Given the description of an element on the screen output the (x, y) to click on. 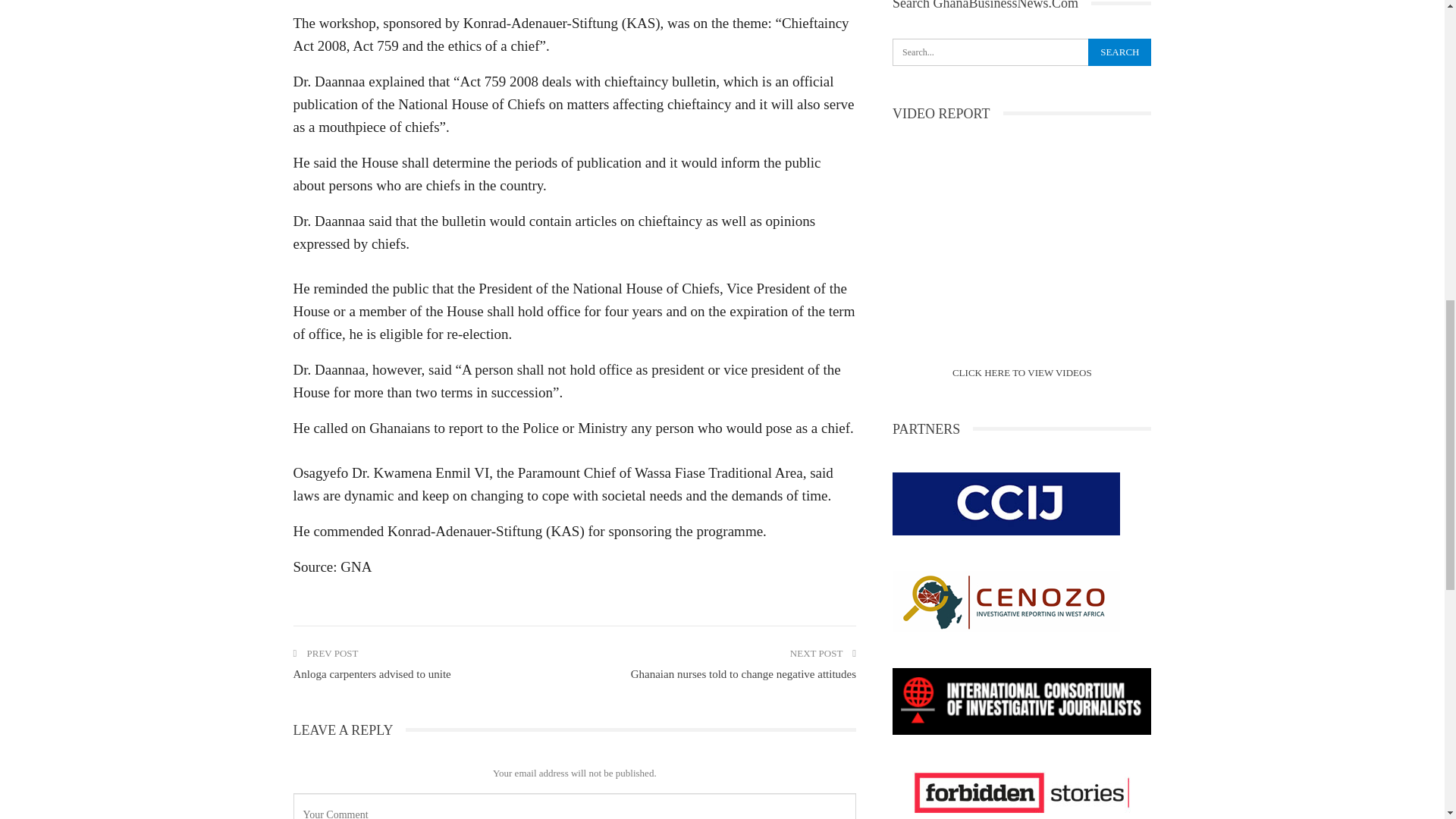
Search (1119, 52)
Ghanaian nurses told to change negative attitudes (743, 674)
Anloga carpenters advised to unite (370, 674)
Search (1119, 52)
